Given the description of an element on the screen output the (x, y) to click on. 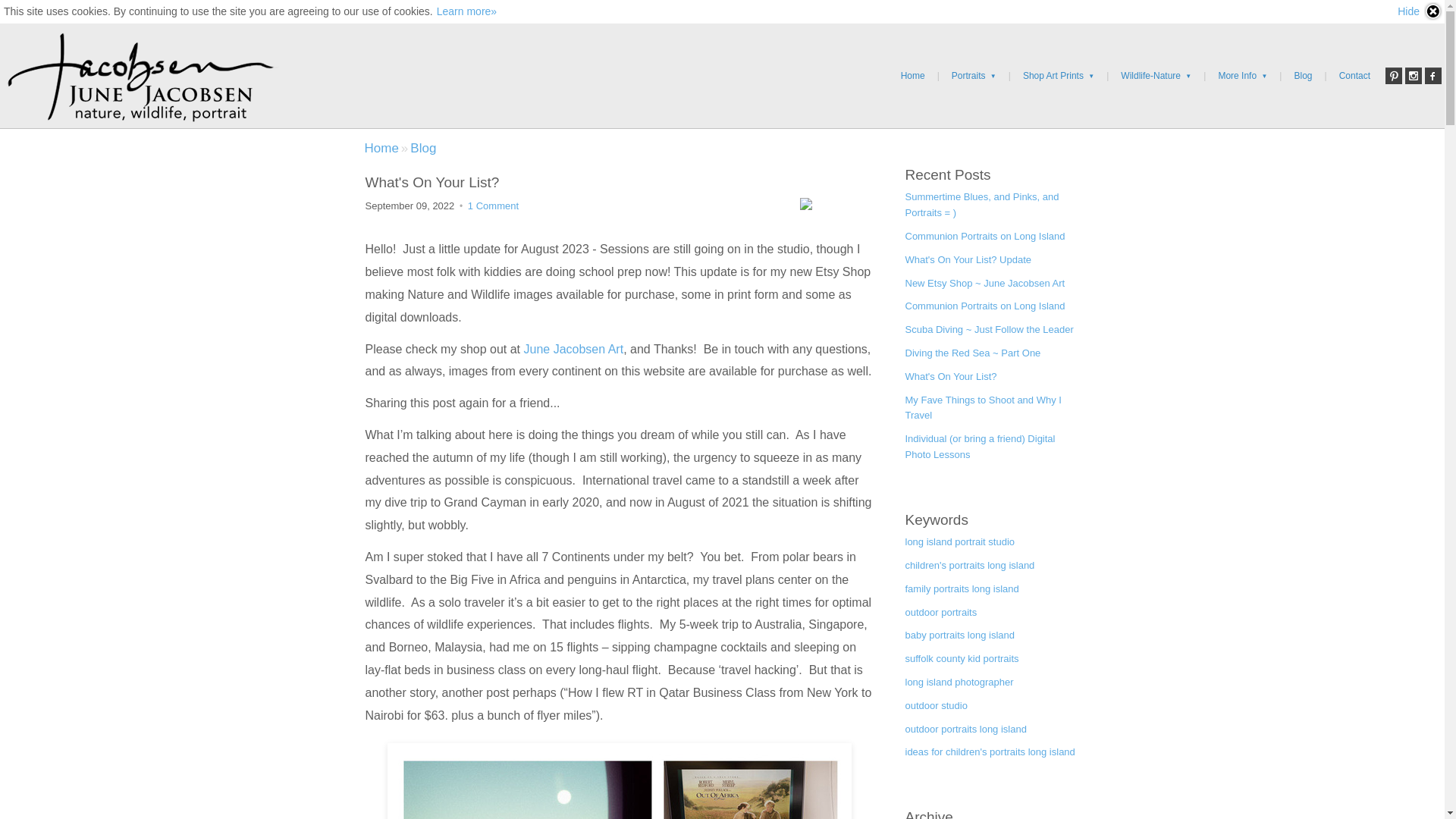
Hide (1419, 11)
June Jacobsen Portrait (140, 75)
June Jacobsen Portrait (380, 147)
Home (912, 75)
